Given the description of an element on the screen output the (x, y) to click on. 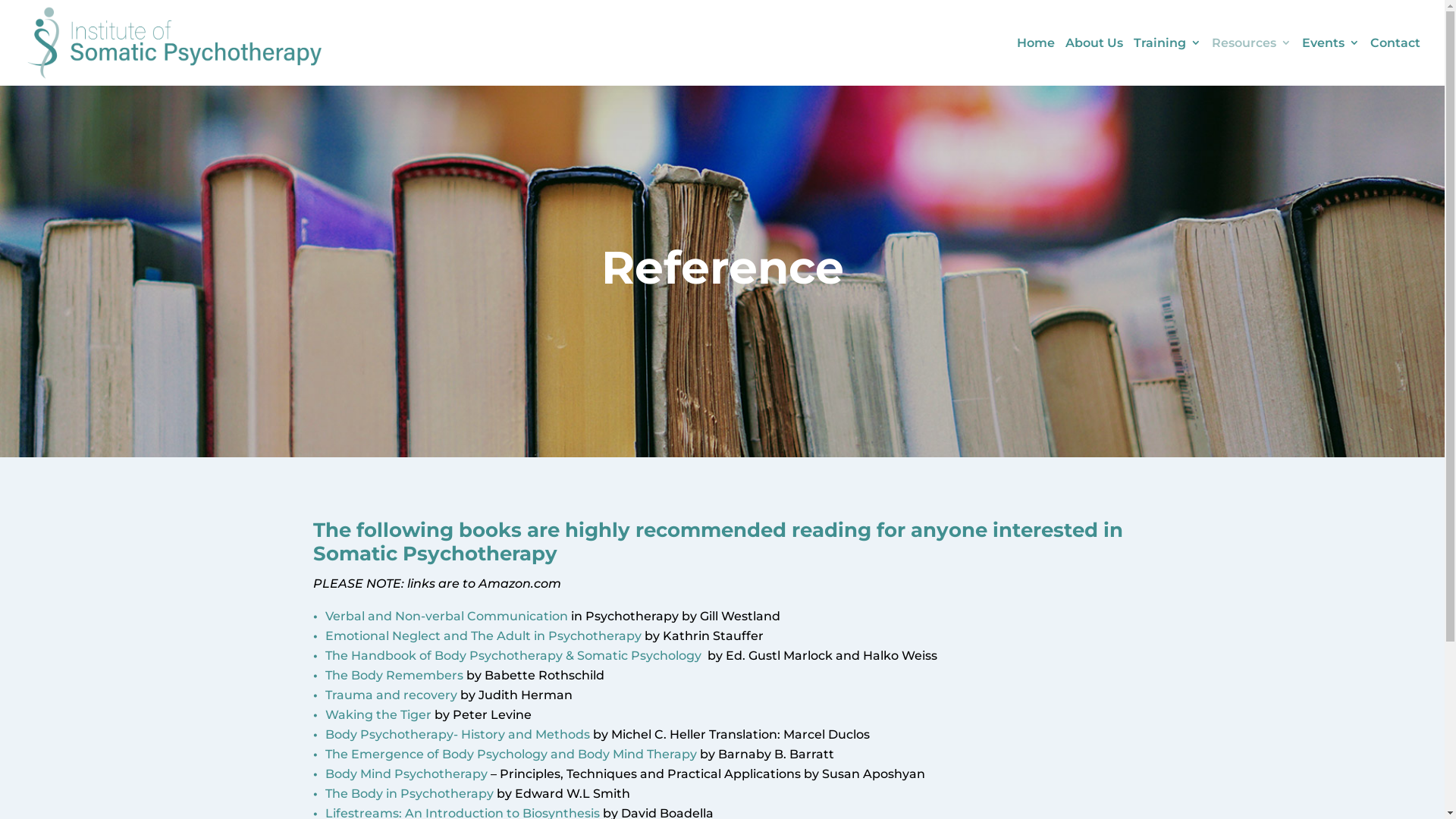
Body Mind Psychotherapy  Element type: text (406, 773)
Trauma and recovery Element type: text (390, 694)
Contact Element type: text (1395, 61)
Verbal and Non-verbal Communication Element type: text (445, 615)
Home Element type: text (1035, 61)
Events Element type: text (1330, 61)
Emotional Neglect and The Adult in Psychotherapy Element type: text (482, 635)
Body Psychotherapy- History and Methods  Element type: text (458, 734)
The Handbook of Body Psychotherapy & Somatic Psychology Element type: text (512, 655)
The Emergence of Body Psychology and Body Mind Therapy Element type: text (510, 753)
Training Element type: text (1167, 61)
About Us Element type: text (1094, 61)
Waking the Tiger Element type: text (377, 714)
The Body Remembers Element type: text (393, 675)
Resources Element type: text (1251, 61)
The Body in Psychotherapy Element type: text (408, 793)
